Given the description of an element on the screen output the (x, y) to click on. 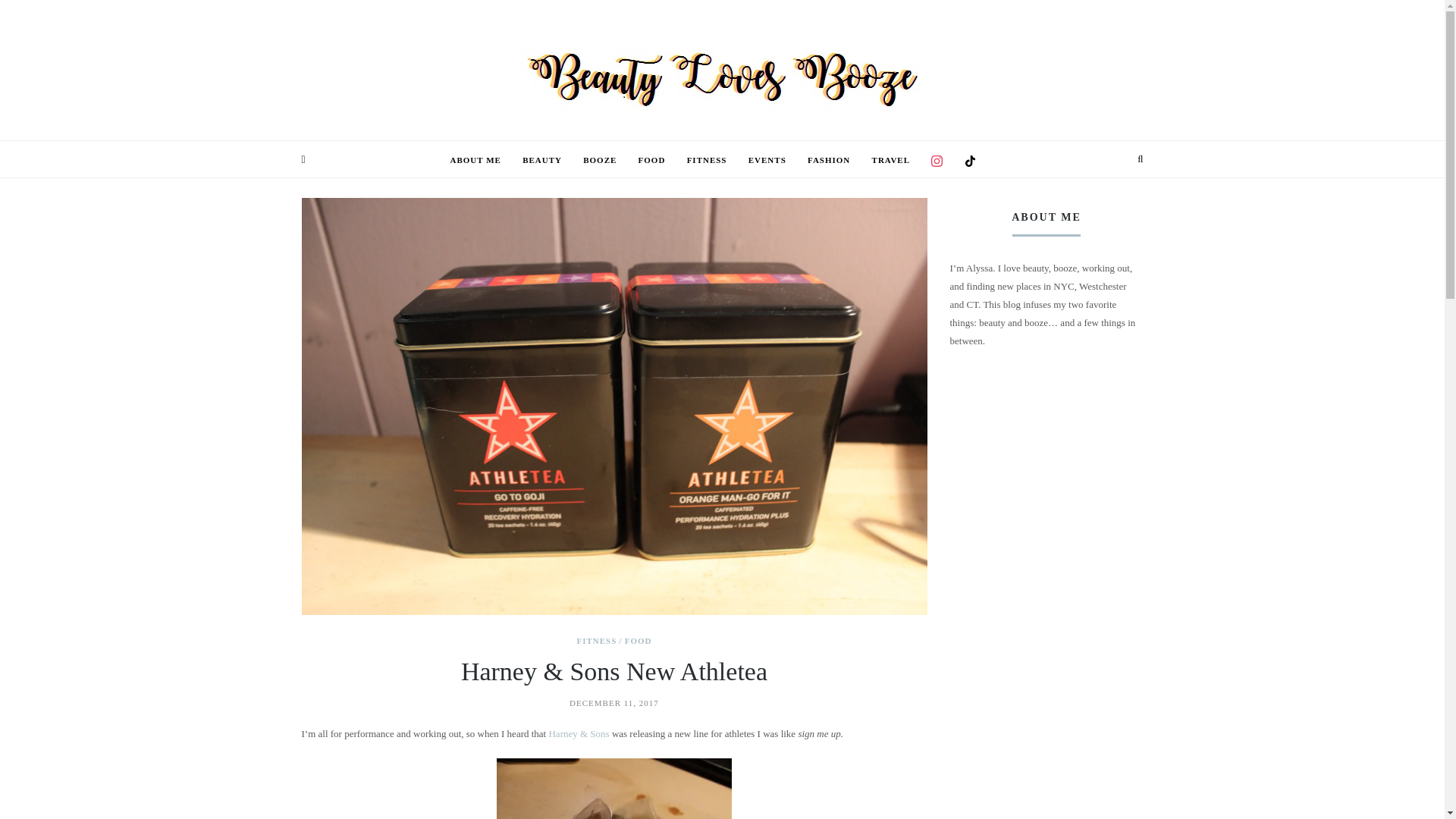
FITNESS (706, 159)
TRAVEL (891, 159)
EVENTS (767, 159)
FOOD (638, 640)
About Me (474, 159)
Beauty Loves Booze  (721, 75)
Events (767, 159)
Fitness (706, 159)
BEAUTY (542, 159)
Beauty (542, 159)
Travel (891, 159)
TIKTOK (969, 161)
ABOUT ME (474, 159)
FASHION (829, 159)
FITNESS (598, 640)
